Given the description of an element on the screen output the (x, y) to click on. 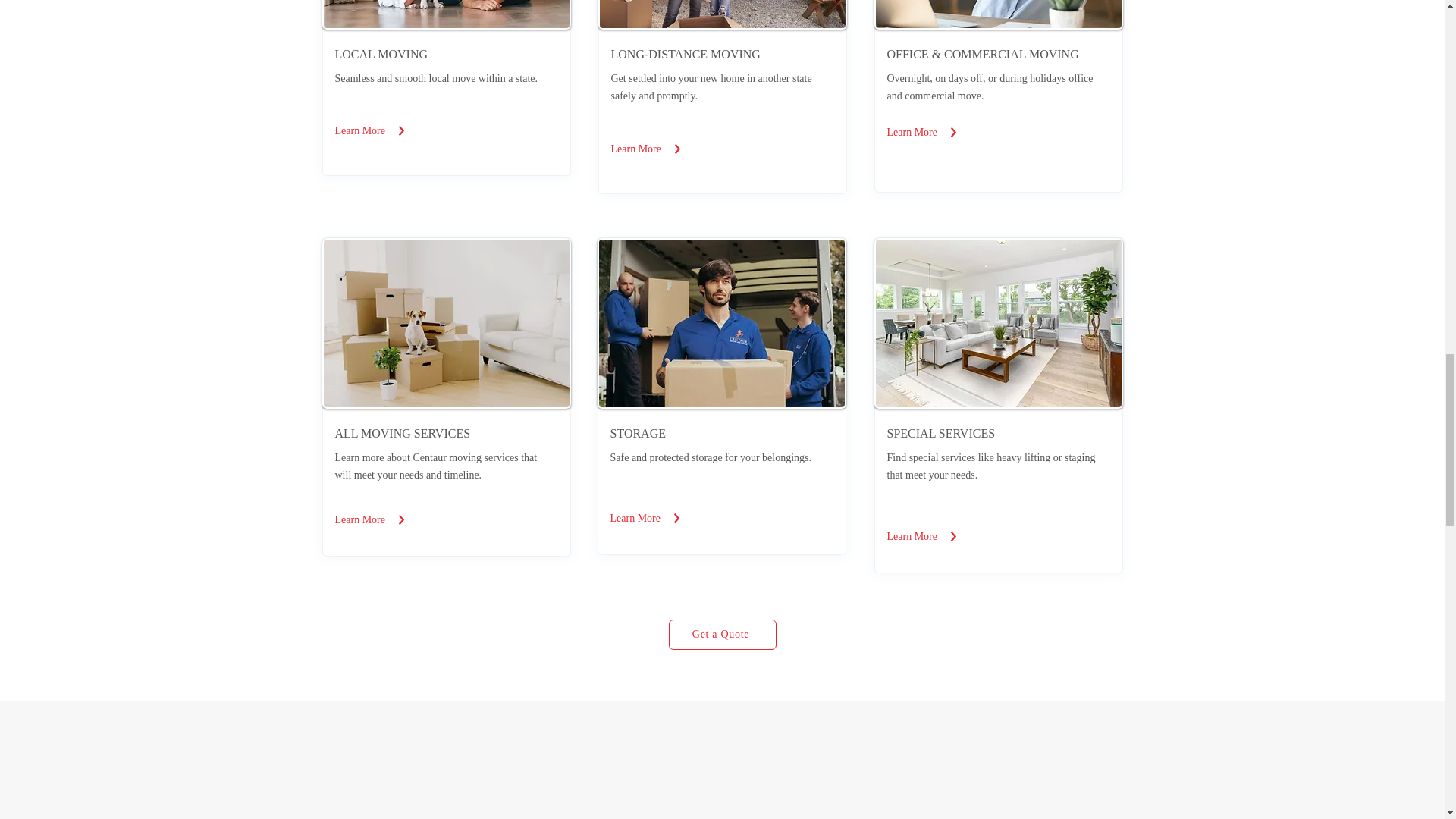
Learn More (636, 148)
Get a Quote (722, 634)
Learn More (359, 130)
Learn More (911, 132)
Learn More (359, 519)
Learn More (911, 535)
Learn More (634, 517)
